Given the description of an element on the screen output the (x, y) to click on. 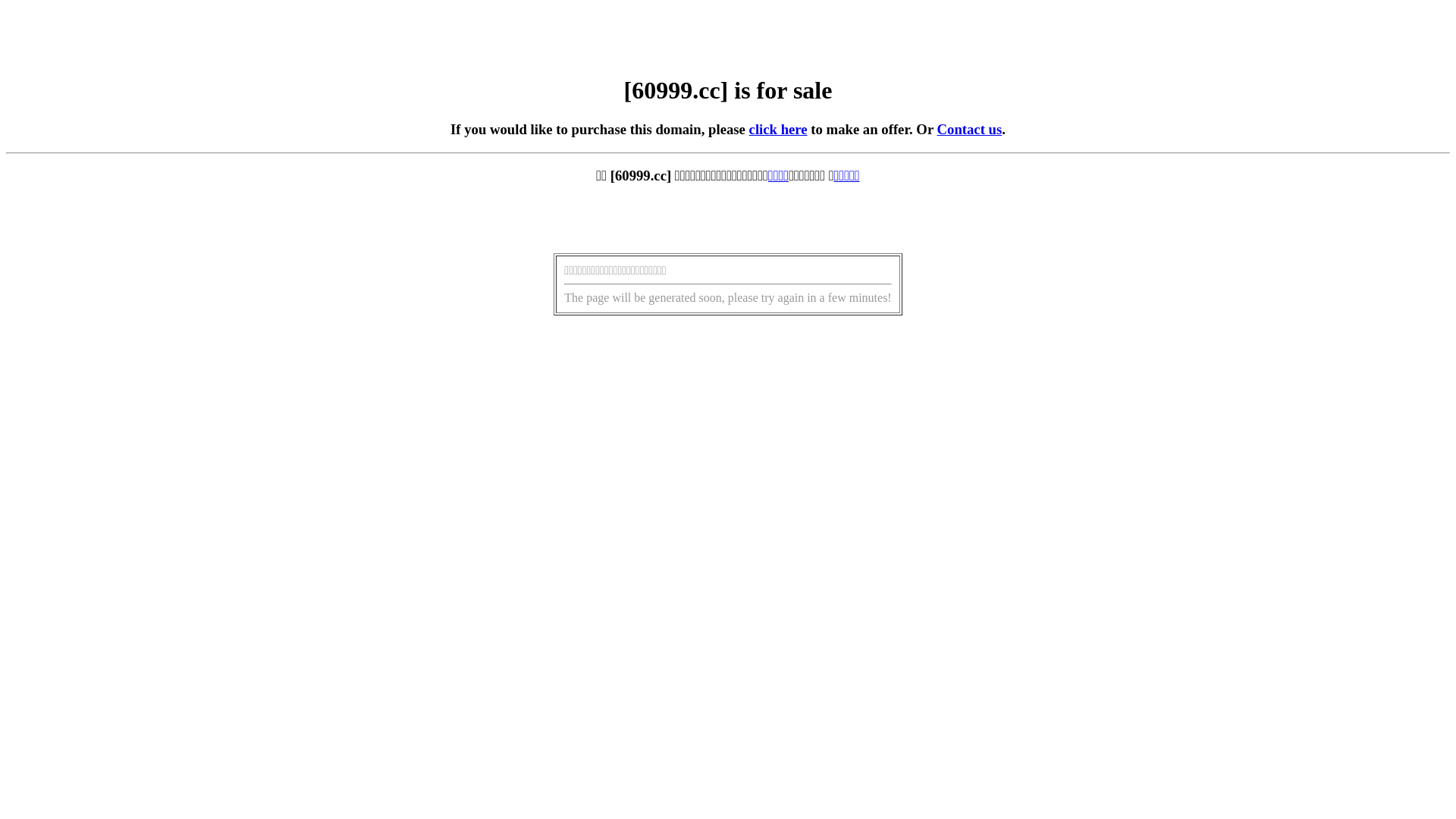
Contact us Element type: text (969, 129)
click here Element type: text (778, 129)
